Given the description of an element on the screen output the (x, y) to click on. 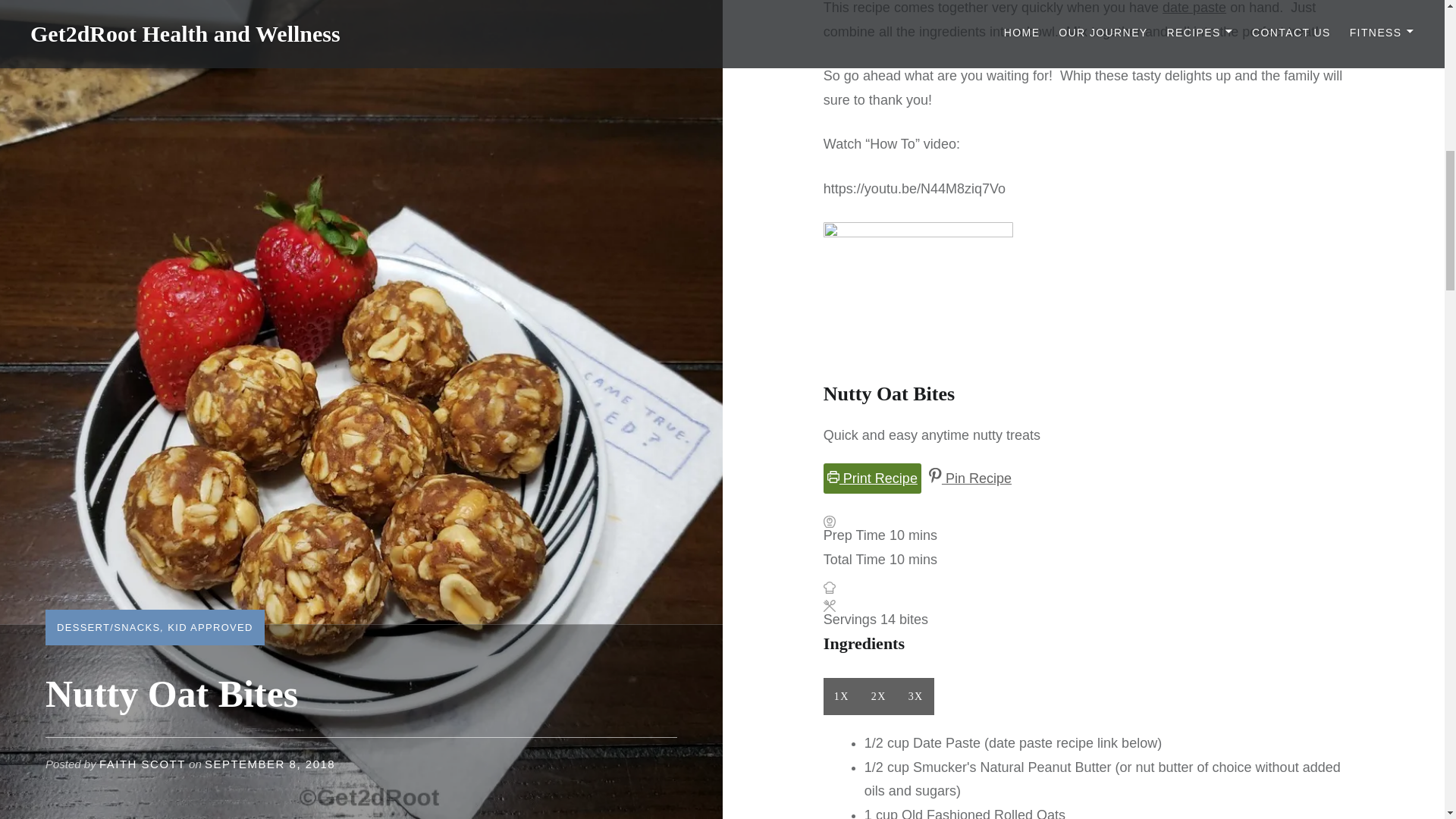
Print Recipe (872, 478)
3X (915, 696)
Pin Recipe (969, 478)
2X (878, 696)
date paste (1193, 7)
1X (842, 696)
